Given the description of an element on the screen output the (x, y) to click on. 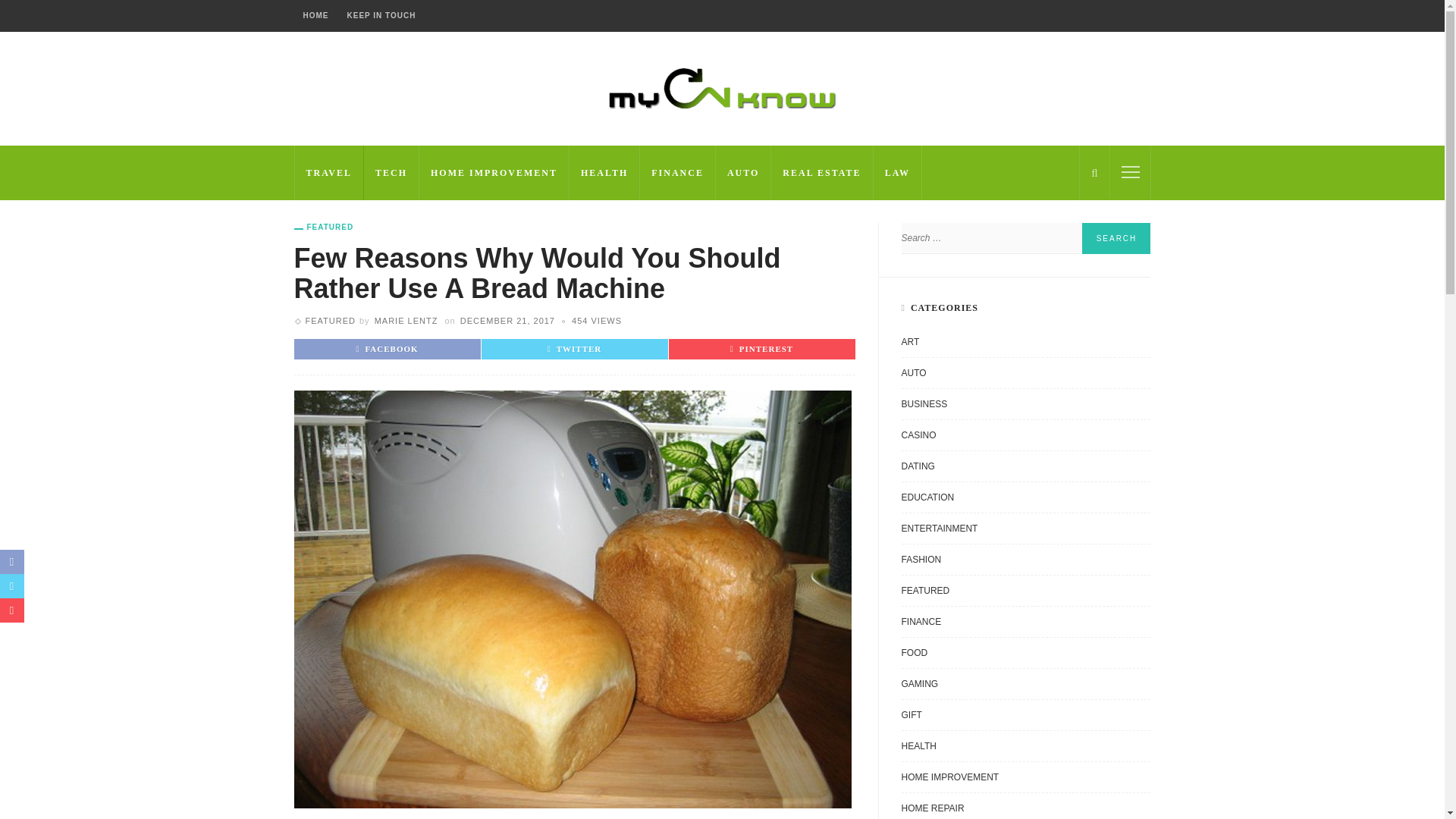
My Cn know (721, 87)
Featured (323, 226)
menu (1129, 171)
TWITTER (574, 347)
Few Reasons why Would you should Rather Use a Bread Machine (596, 320)
Featured (329, 320)
TECH (391, 172)
KEEP IN TOUCH (381, 15)
FEATURED (329, 320)
Search (1115, 237)
Search (1115, 237)
FACEBOOK (386, 347)
FINANCE (678, 172)
HEALTH (604, 172)
HOME (315, 15)
